Given the description of an element on the screen output the (x, y) to click on. 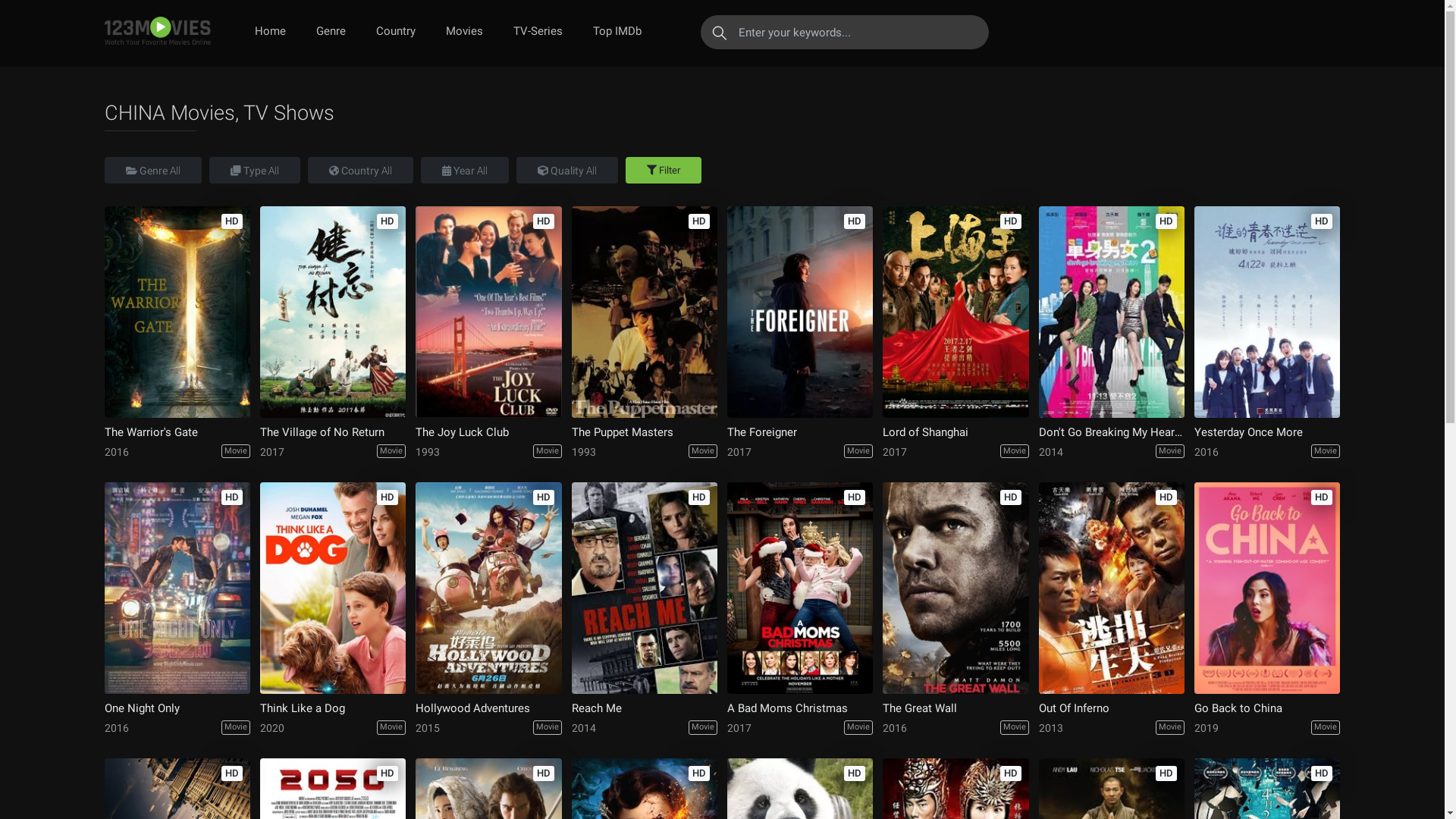
Genre All Element type: text (152, 169)
Country All Element type: text (360, 169)
Yesterday Once More Element type: text (1266, 432)
The Puppet Masters Element type: text (644, 432)
The Foreigner Element type: text (799, 432)
The Village of No Return Element type: hover (332, 311)
Think Like a Dog Element type: text (332, 708)
Type All Element type: text (254, 169)
Home Element type: text (269, 31)
The Warrior's Gate Element type: text (177, 432)
Filter Element type: text (662, 169)
The Joy Luck Club Element type: text (488, 432)
One Night Only Element type: text (177, 708)
One Night Only Element type: hover (177, 587)
Top IMDb Element type: text (616, 31)
Yesterday Once More Element type: hover (1266, 311)
TV-Series Element type: text (536, 31)
Movies Element type: text (464, 31)
Go Back to China Element type: text (1266, 708)
Hollywood Adventures Element type: text (488, 708)
Go Back to China Element type: hover (1266, 587)
The Foreigner Element type: hover (799, 311)
The Great Wall Element type: text (955, 708)
Quality All Element type: text (566, 169)
Out Of Inferno Element type: text (1111, 708)
Hollywood Adventures Element type: hover (488, 587)
Don't Go Breaking My Heart 2 Element type: hover (1111, 311)
Reach Me Element type: text (644, 708)
The Puppet Masters Element type: hover (644, 311)
Year All Element type: text (464, 169)
Watch Movies Online Free Element type: text (157, 31)
Lord of Shanghai Element type: hover (955, 311)
Reach Me Element type: hover (644, 587)
Think Like a Dog Element type: hover (332, 587)
The Joy Luck Club Element type: hover (488, 311)
The Warrior's Gate Element type: hover (177, 311)
Genre Element type: text (330, 31)
Don't Go Breaking My Heart 2 Element type: text (1111, 432)
The Great Wall Element type: hover (955, 587)
The Village of No Return Element type: text (332, 432)
Out Of Inferno Element type: hover (1111, 587)
Country Element type: text (395, 31)
Lord of Shanghai Element type: text (955, 432)
A Bad Moms Christmas Element type: hover (799, 587)
A Bad Moms Christmas Element type: text (799, 708)
